Given the description of an element on the screen output the (x, y) to click on. 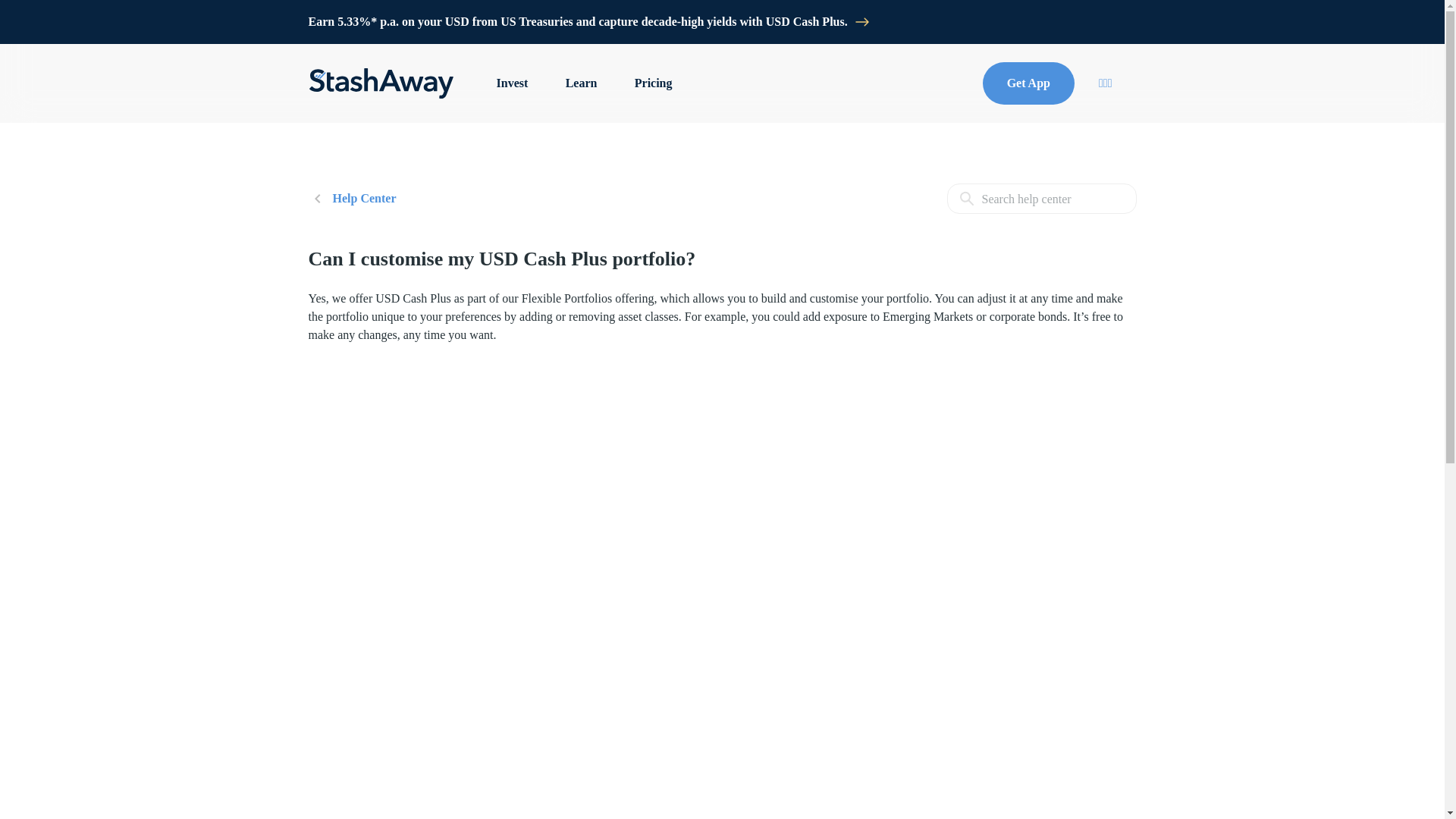
Pricing (653, 82)
Get App (1028, 83)
Help Center (351, 198)
